Given the description of an element on the screen output the (x, y) to click on. 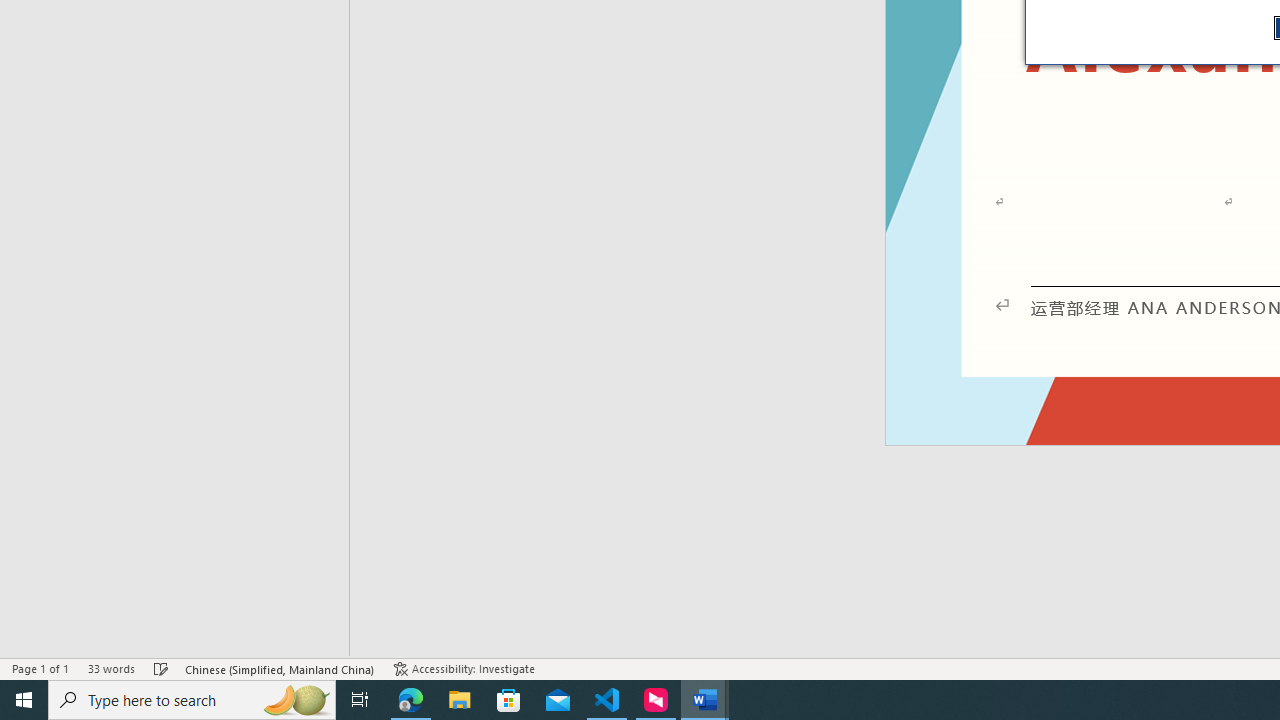
Task View (359, 699)
